Given the description of an element on the screen output the (x, y) to click on. 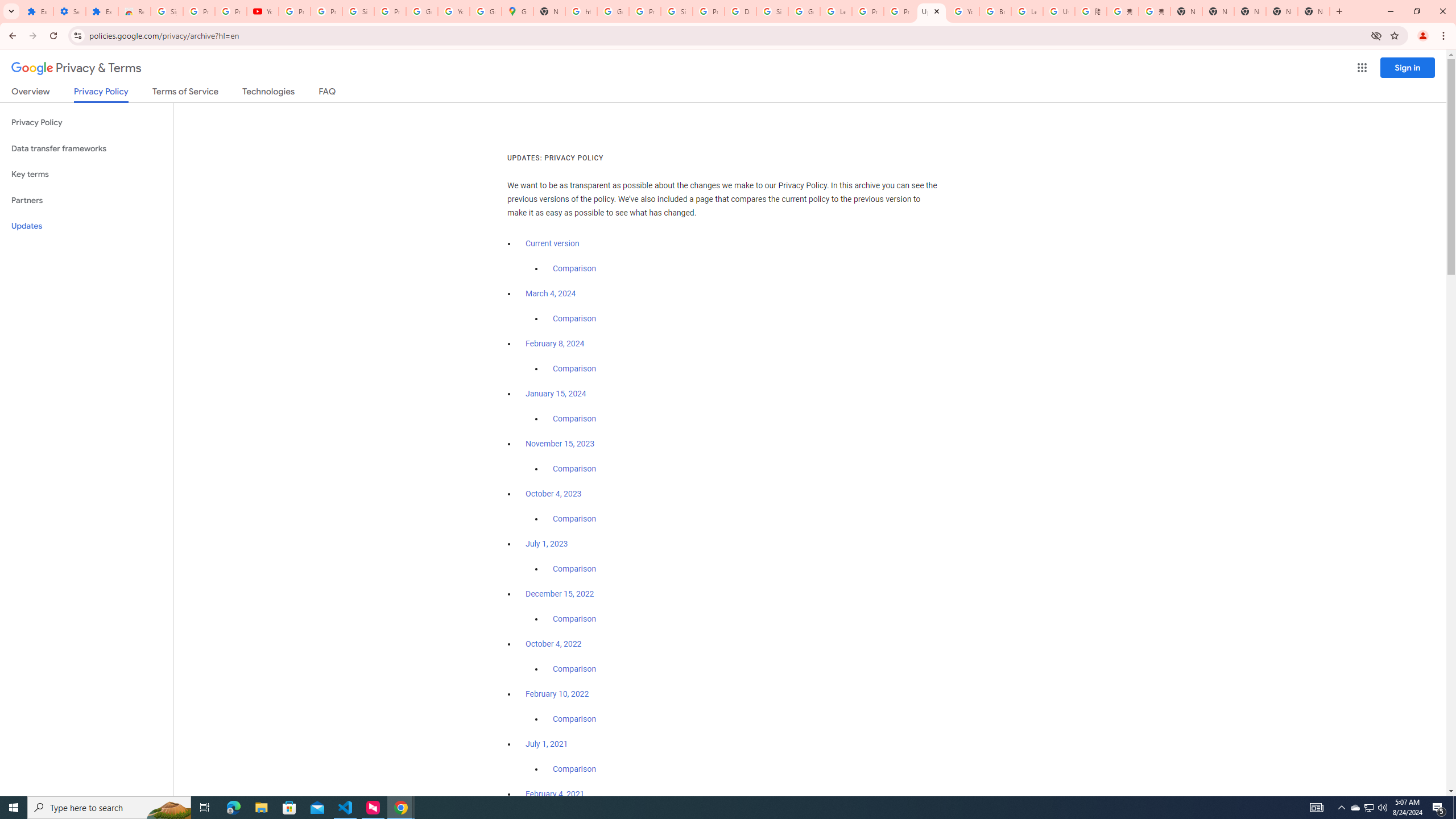
Google Maps (517, 11)
December 15, 2022 (559, 593)
